Given the description of an element on the screen output the (x, y) to click on. 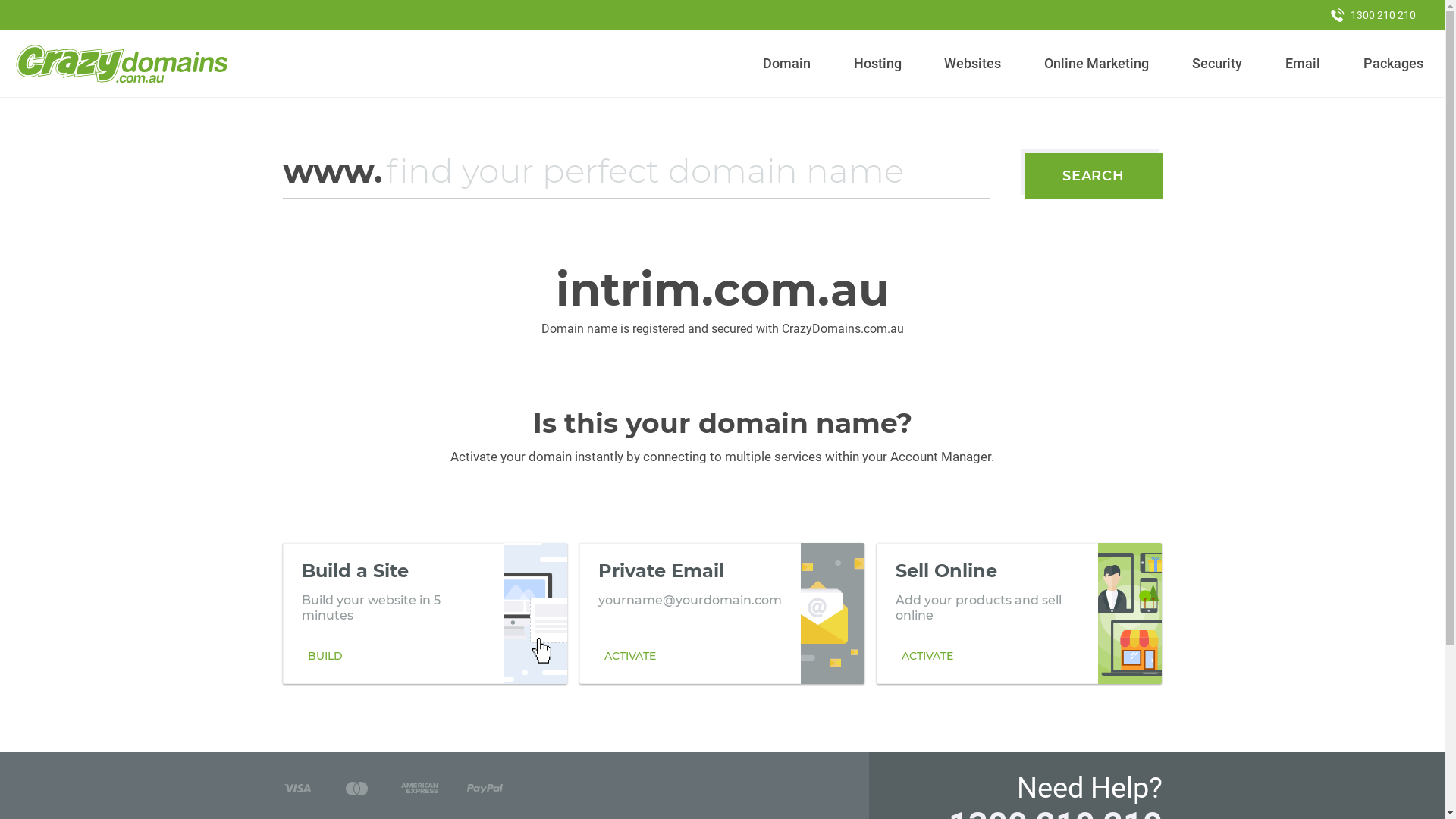
SEARCH Element type: text (1092, 175)
Domain Element type: text (786, 63)
Packages Element type: text (1392, 63)
Online Marketing Element type: text (1096, 63)
Security Element type: text (1217, 63)
Websites Element type: text (972, 63)
1300 210 210 Element type: text (1373, 15)
Private Email
yourname@yourdomain.com
ACTIVATE Element type: text (721, 613)
Sell Online
Add your products and sell online
ACTIVATE Element type: text (1018, 613)
Email Element type: text (1302, 63)
Hosting Element type: text (877, 63)
Build a Site
Build your website in 5 minutes
BUILD Element type: text (424, 613)
